Given the description of an element on the screen output the (x, y) to click on. 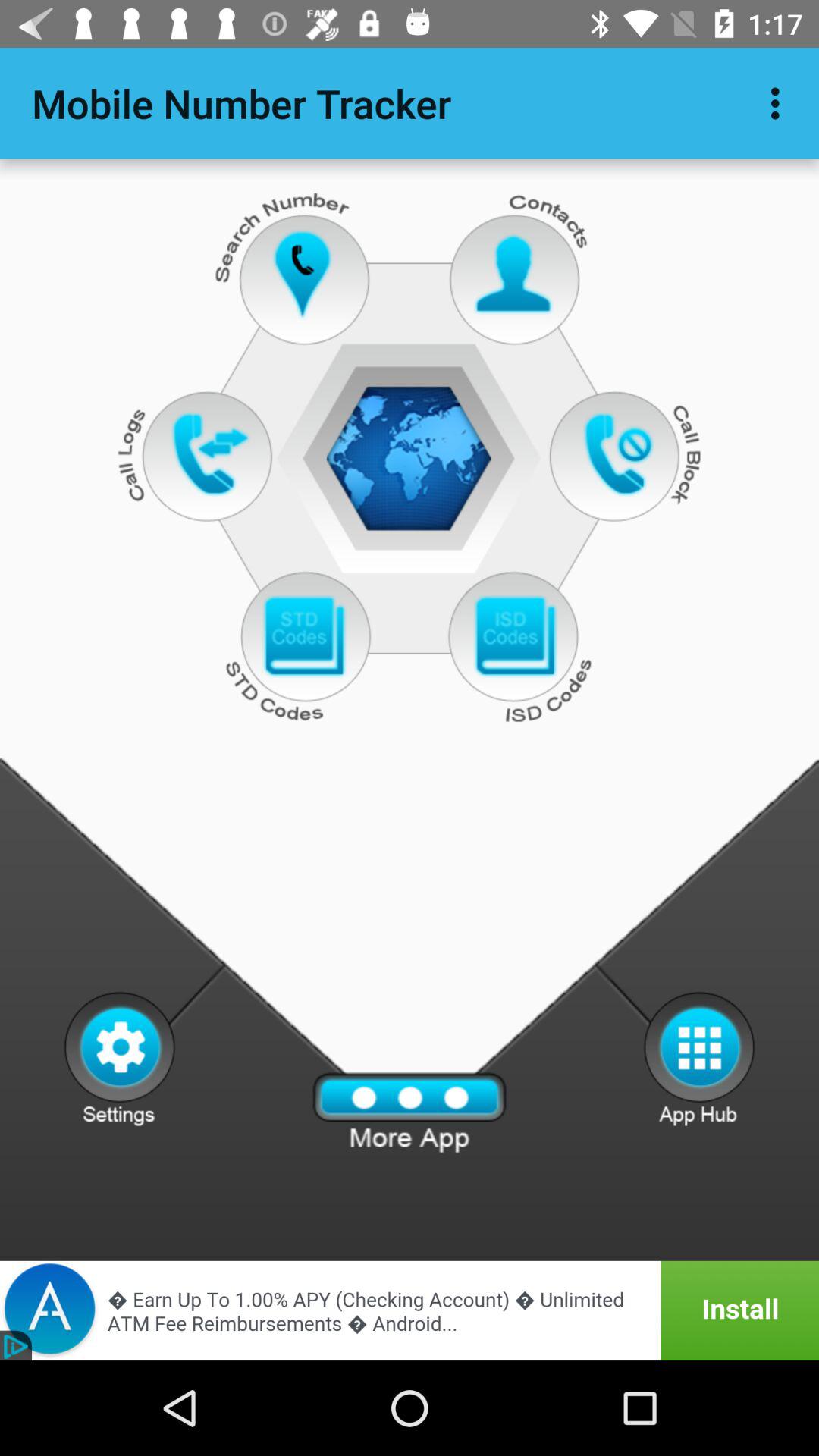
search numbers (303, 274)
